Given the description of an element on the screen output the (x, y) to click on. 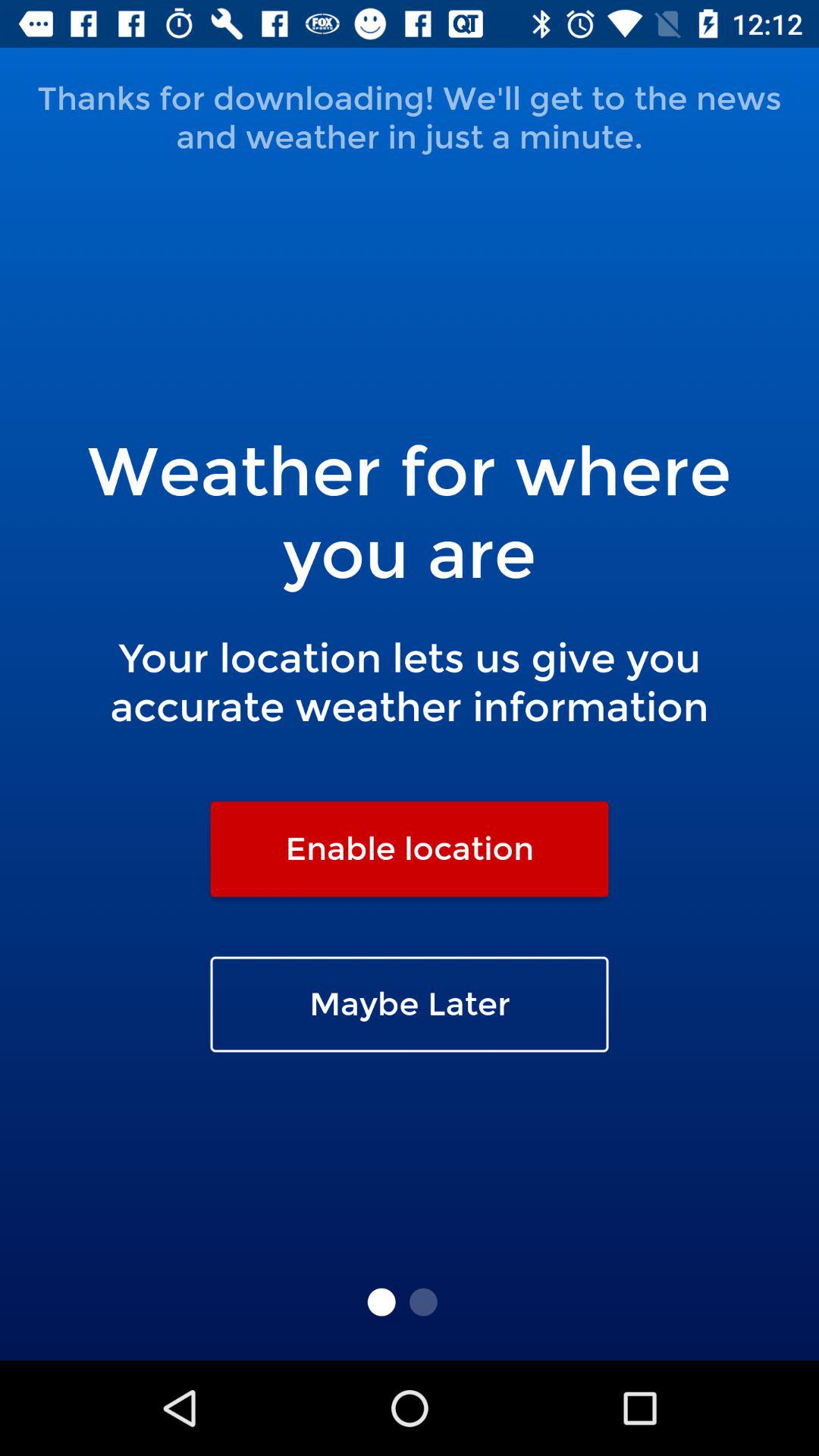
press the maybe later (409, 1004)
